Given the description of an element on the screen output the (x, y) to click on. 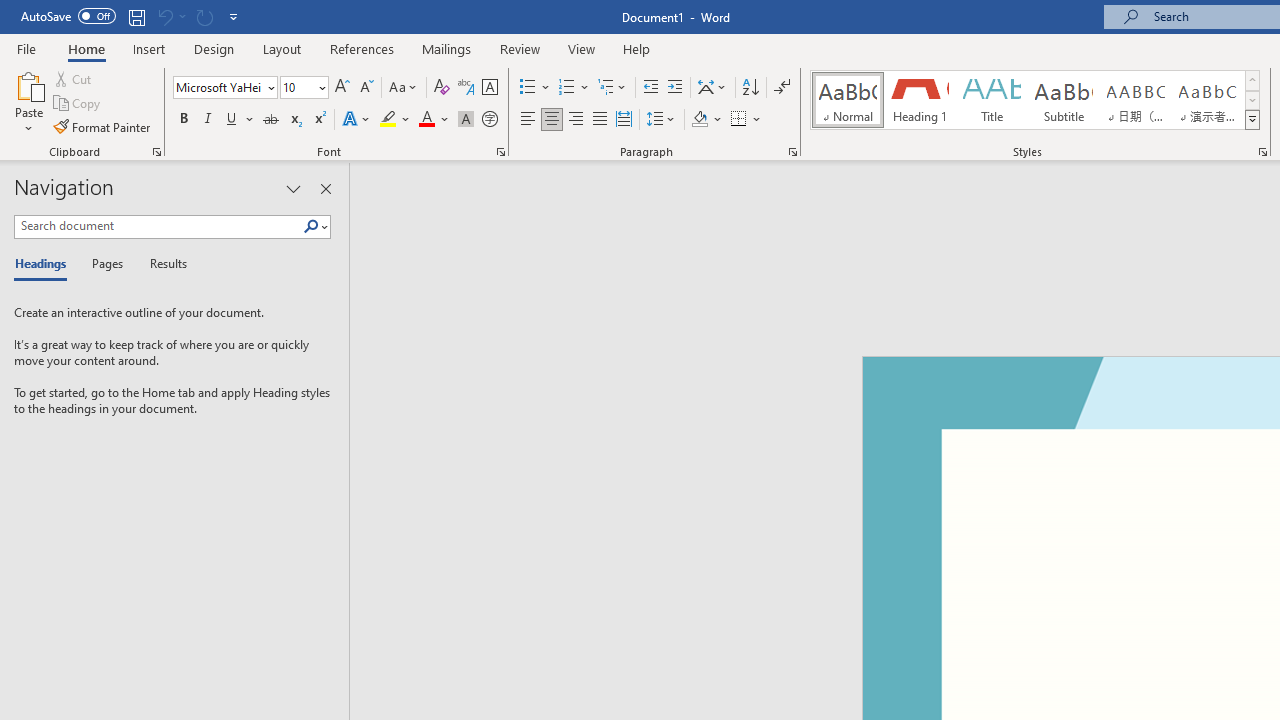
Align Left (527, 119)
Superscript (319, 119)
Font Color (434, 119)
